Given the description of an element on the screen output the (x, y) to click on. 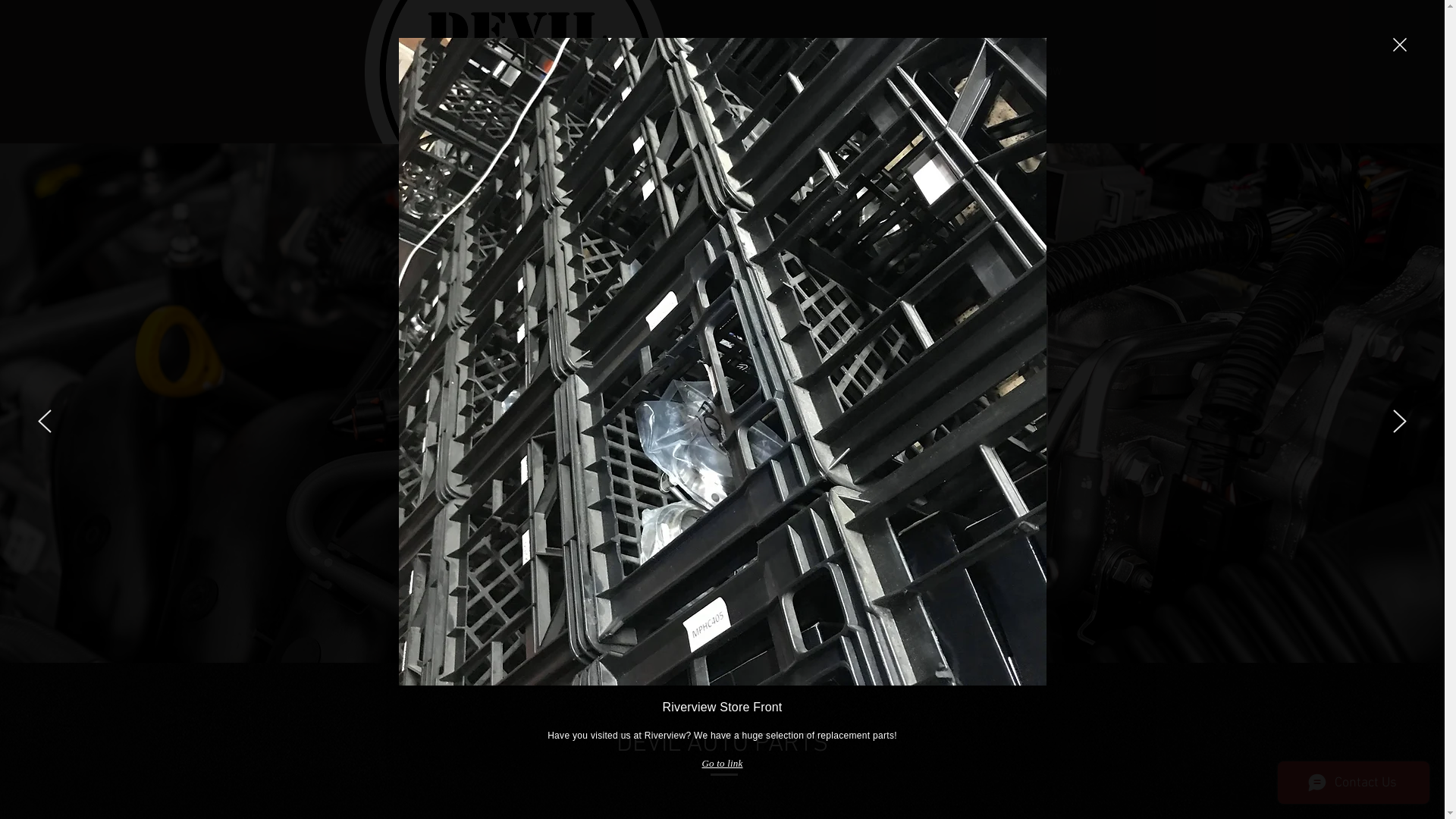
HOME Element type: text (712, 71)
S P E C I A L I S T S Element type: text (849, 438)
Go to link Element type: text (722, 763)
SHOP DEVIL AUTO PARTS Element type: text (722, 391)
SHOP NOW Element type: text (1034, 71)
CONTACT Element type: text (922, 71)
E B A Y   C A R    P A R T S     Element type: text (635, 438)
ABOUT US Element type: text (814, 71)
